Given the description of an element on the screen output the (x, y) to click on. 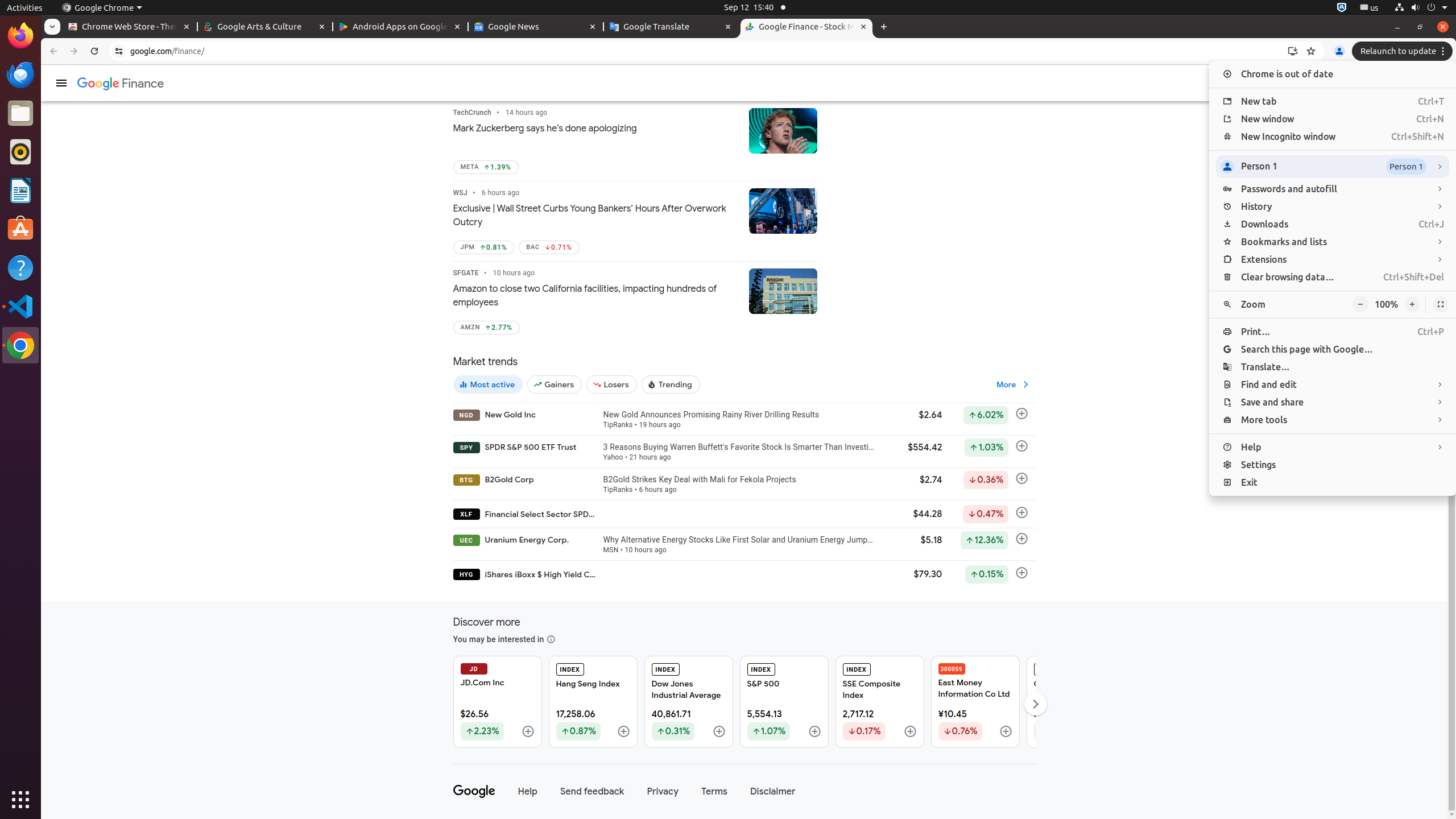
Print… Ctrl+P Element type: menu-item (1332, 331)
Find and edit Element type: menu-item (1332, 384)
Search this page with Google… Element type: menu-item (1332, 349)
Google Chrome Element type: push-button (20, 344)
Chrome is out of date Element type: menu-item (1332, 74)
